Given the description of an element on the screen output the (x, y) to click on. 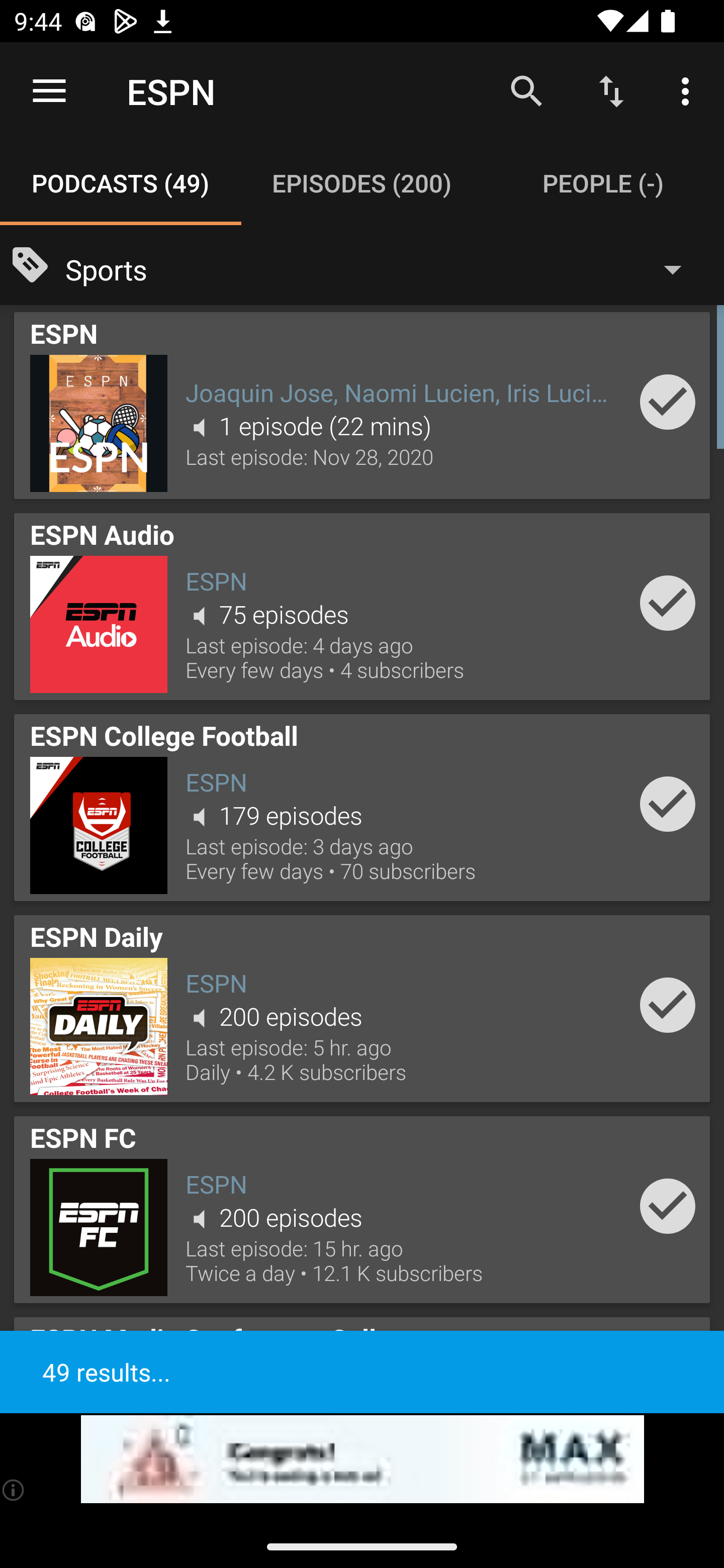
Open navigation sidebar (49, 91)
Search (526, 90)
Sort (611, 90)
More options (688, 90)
Episodes (200) EPISODES (200) (361, 183)
People (-) PEOPLE (-) (603, 183)
Sports (383, 268)
Add (667, 401)
Add (667, 603)
Add (667, 804)
Add (667, 1004)
Add (667, 1205)
app-monetization (362, 1459)
(i) (14, 1489)
